Given the description of an element on the screen output the (x, y) to click on. 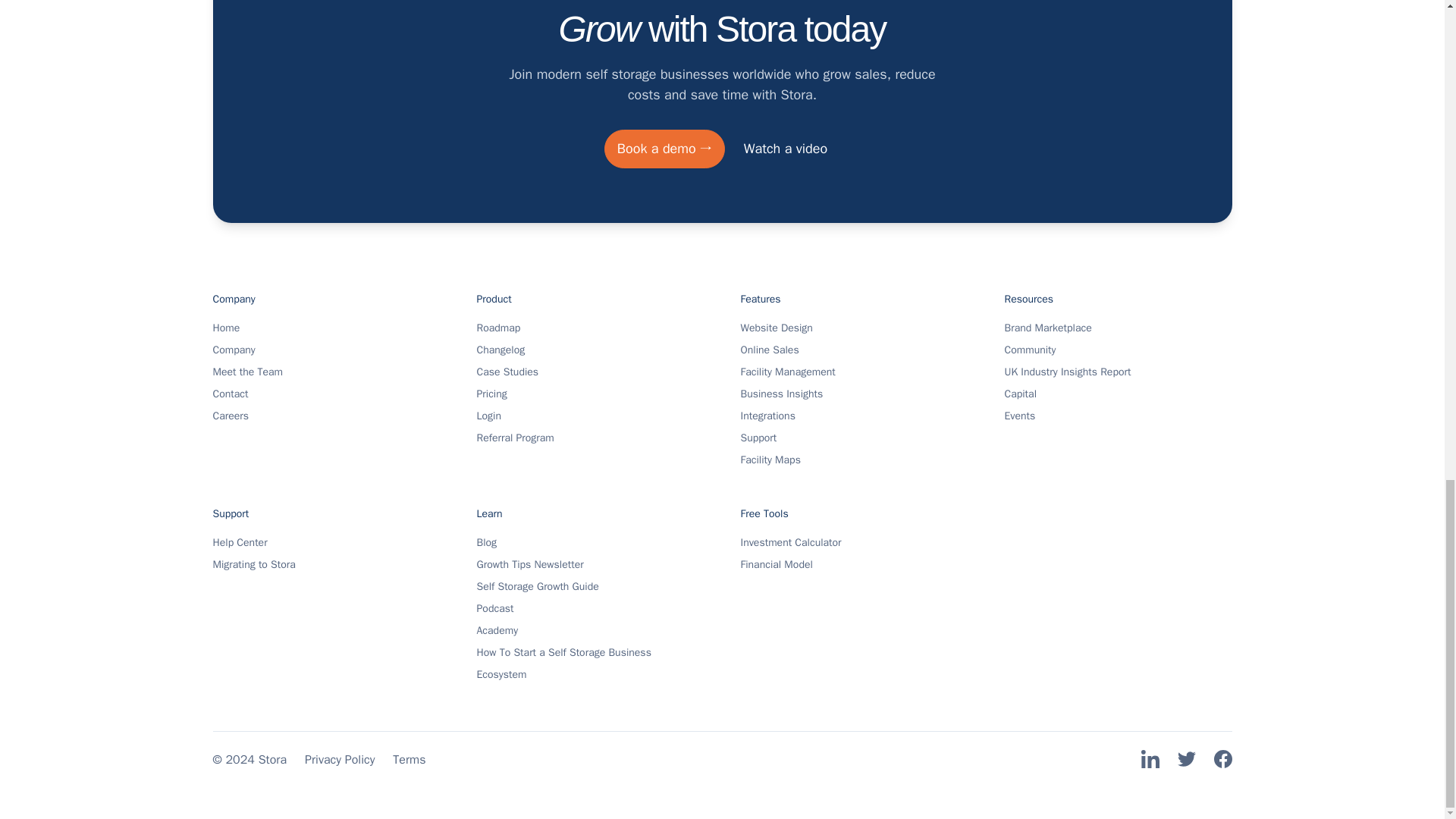
Contact our sales team (785, 148)
Privacy Policy (339, 760)
Book a demo with Stora (664, 148)
Terms (409, 760)
